Given the description of an element on the screen output the (x, y) to click on. 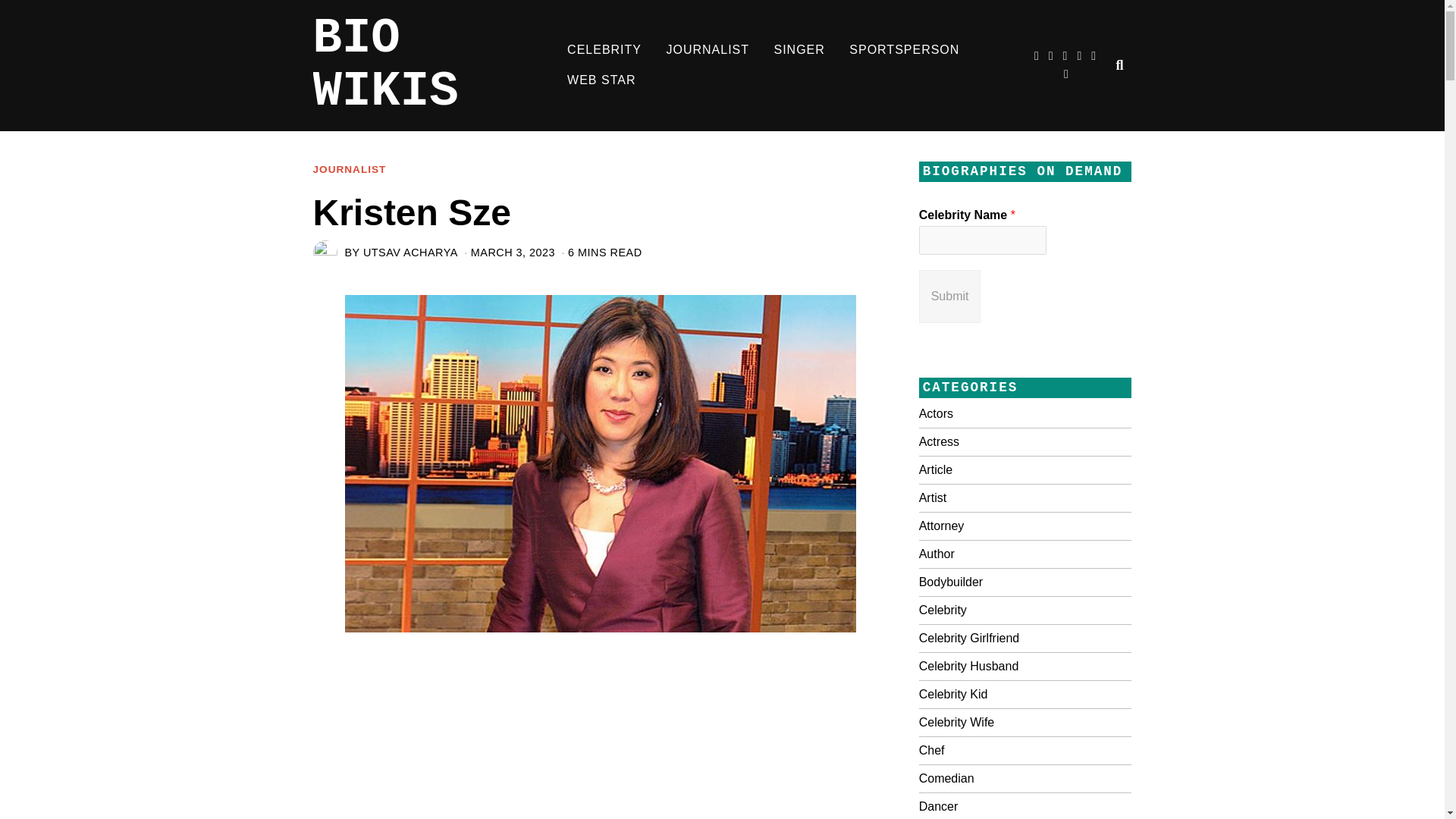
JOURNALIST (707, 50)
SPORTSPERSON (903, 50)
BIO WIKIS (434, 65)
WEB STAR (601, 80)
UTSAV ACHARYA (410, 252)
JOURNALIST (349, 169)
Advertisement (640, 725)
CELEBRITY (604, 50)
SINGER (798, 50)
